Given the description of an element on the screen output the (x, y) to click on. 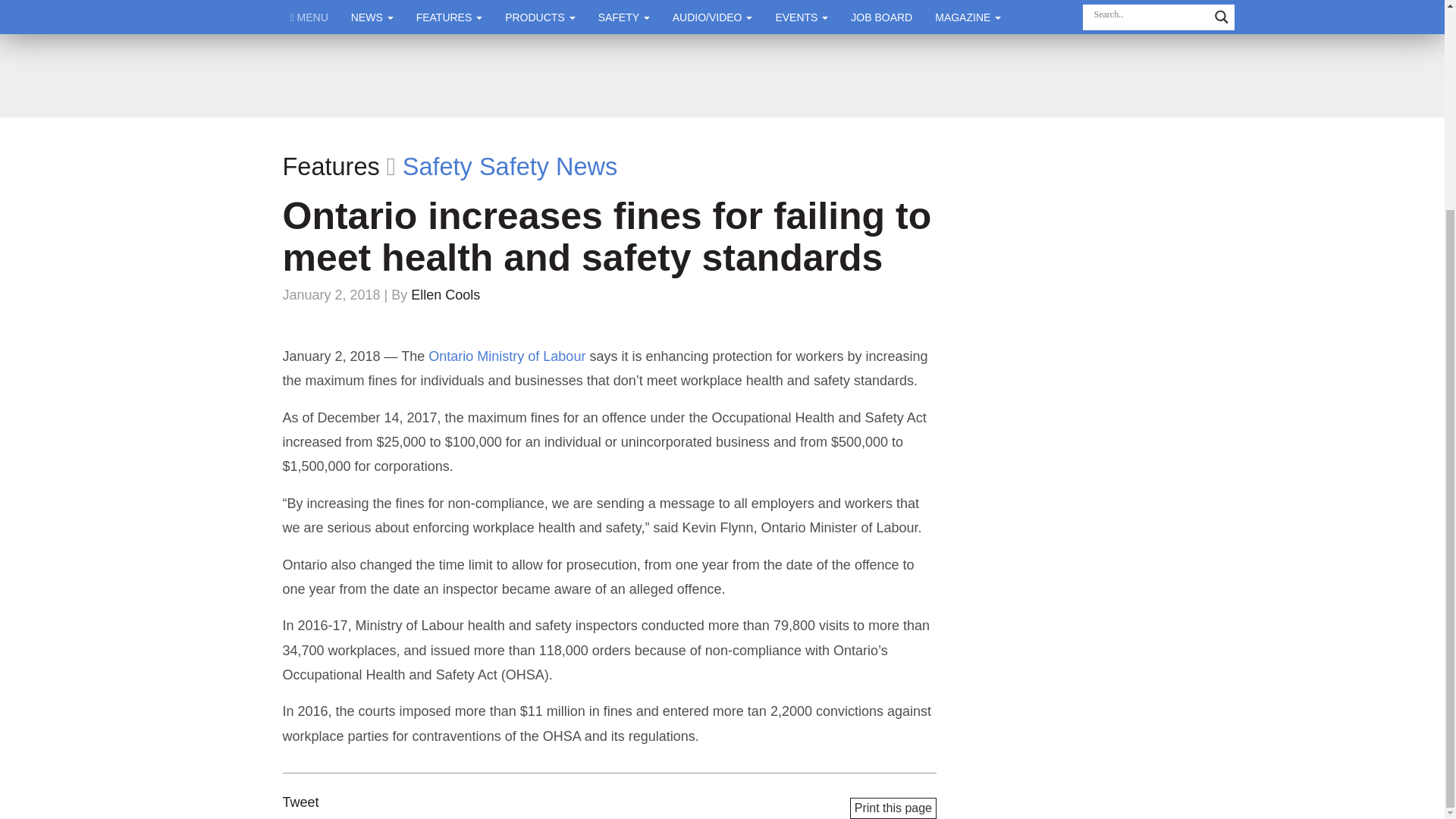
NEWS (371, 17)
FEATURES (449, 17)
Click to show site navigation (309, 17)
3rd party ad content (721, 75)
MENU (309, 17)
SAFETY (623, 17)
PRODUCTS (539, 17)
